Given the description of an element on the screen output the (x, y) to click on. 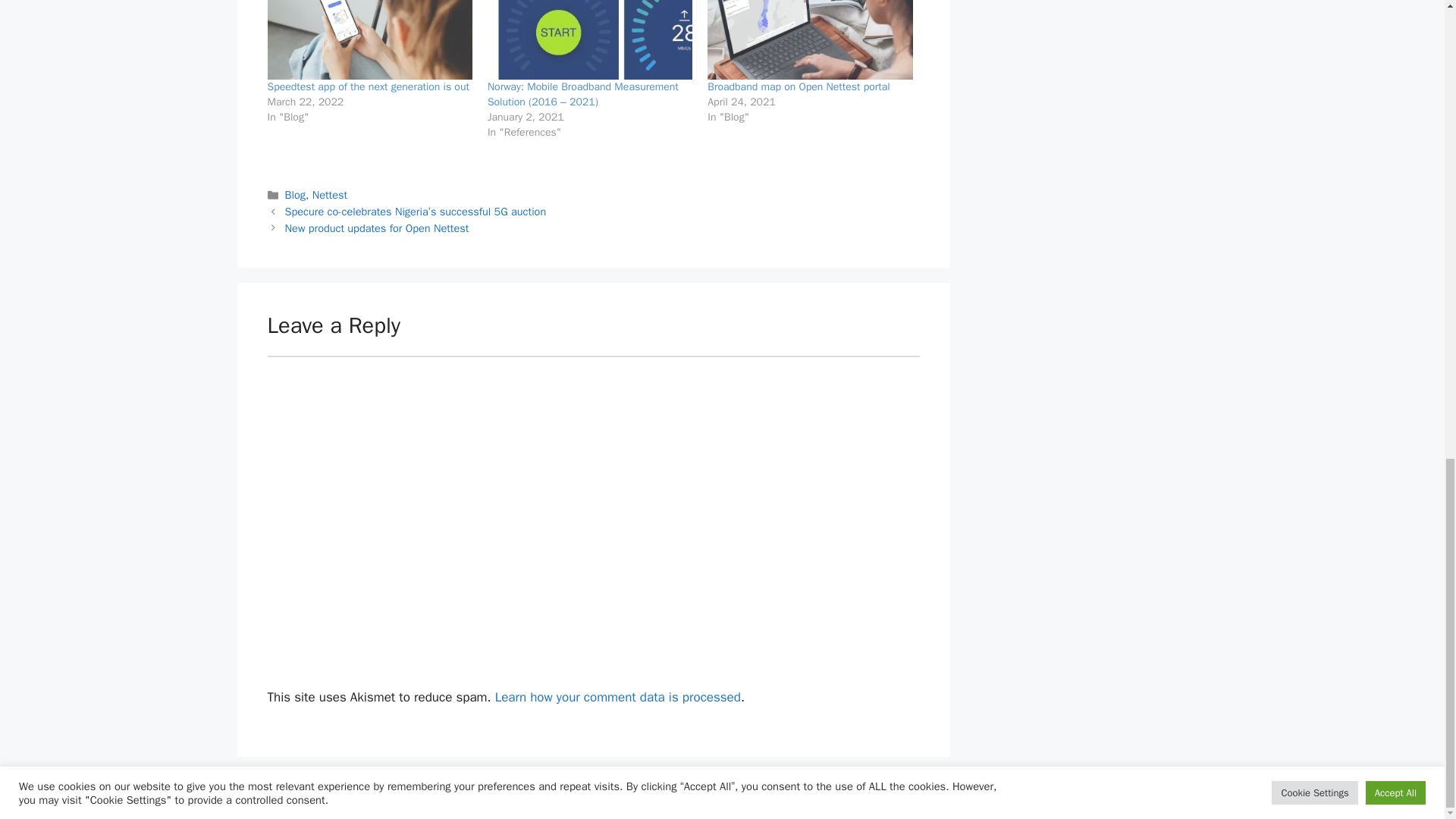
Learn how your comment data is processed (618, 697)
Scroll back to top (1406, 487)
Broadband map on Open Nettest portal (798, 86)
Broadband map on Open Nettest portal (798, 86)
Speedtest app of the next generation is out (367, 86)
GeneratePress (810, 795)
New product updates for Open Nettest (376, 228)
Nettest (330, 194)
Speedtest app of the next generation is out (368, 39)
